Given the description of an element on the screen output the (x, y) to click on. 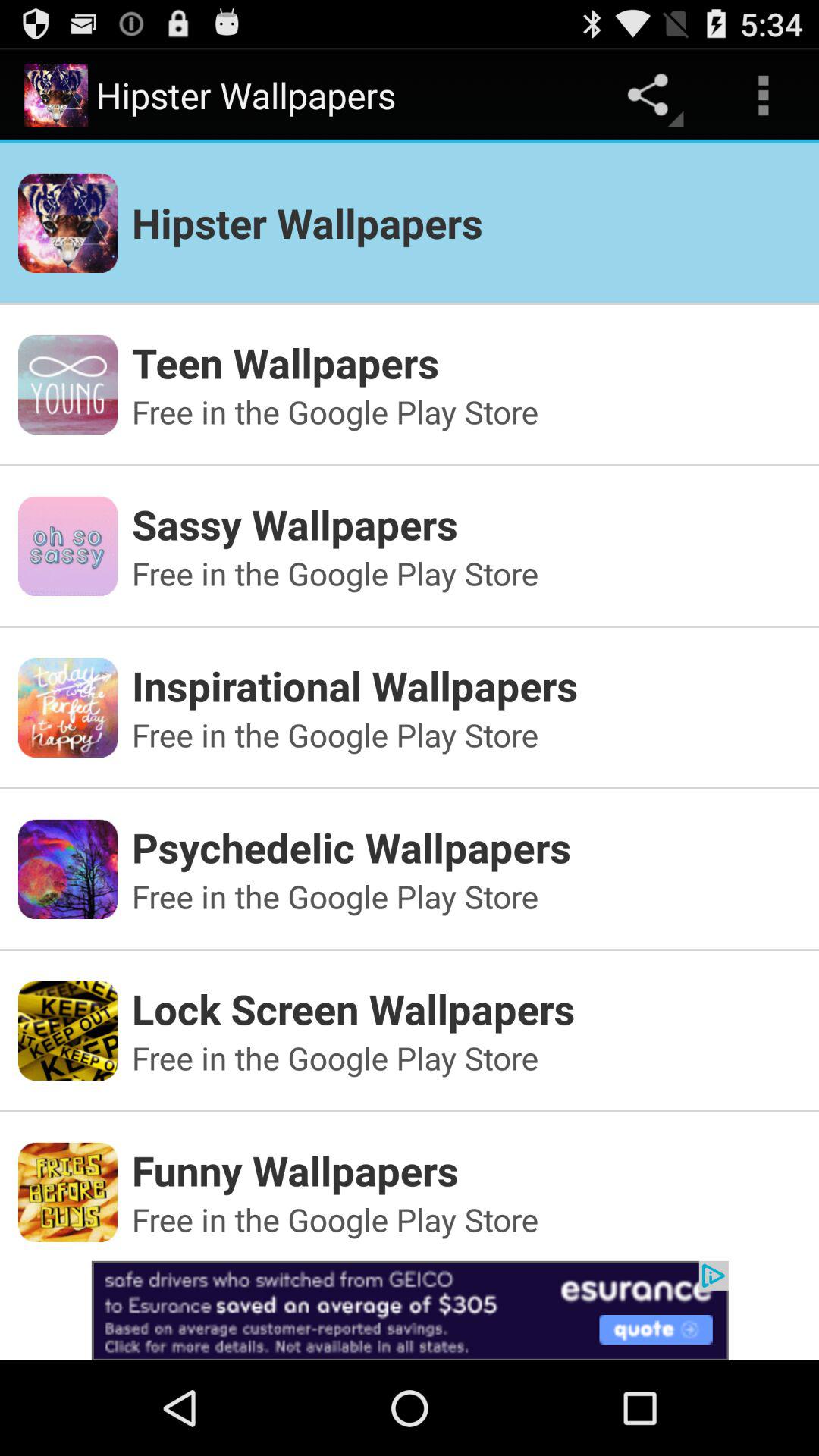
advertisement page (409, 1310)
